Given the description of an element on the screen output the (x, y) to click on. 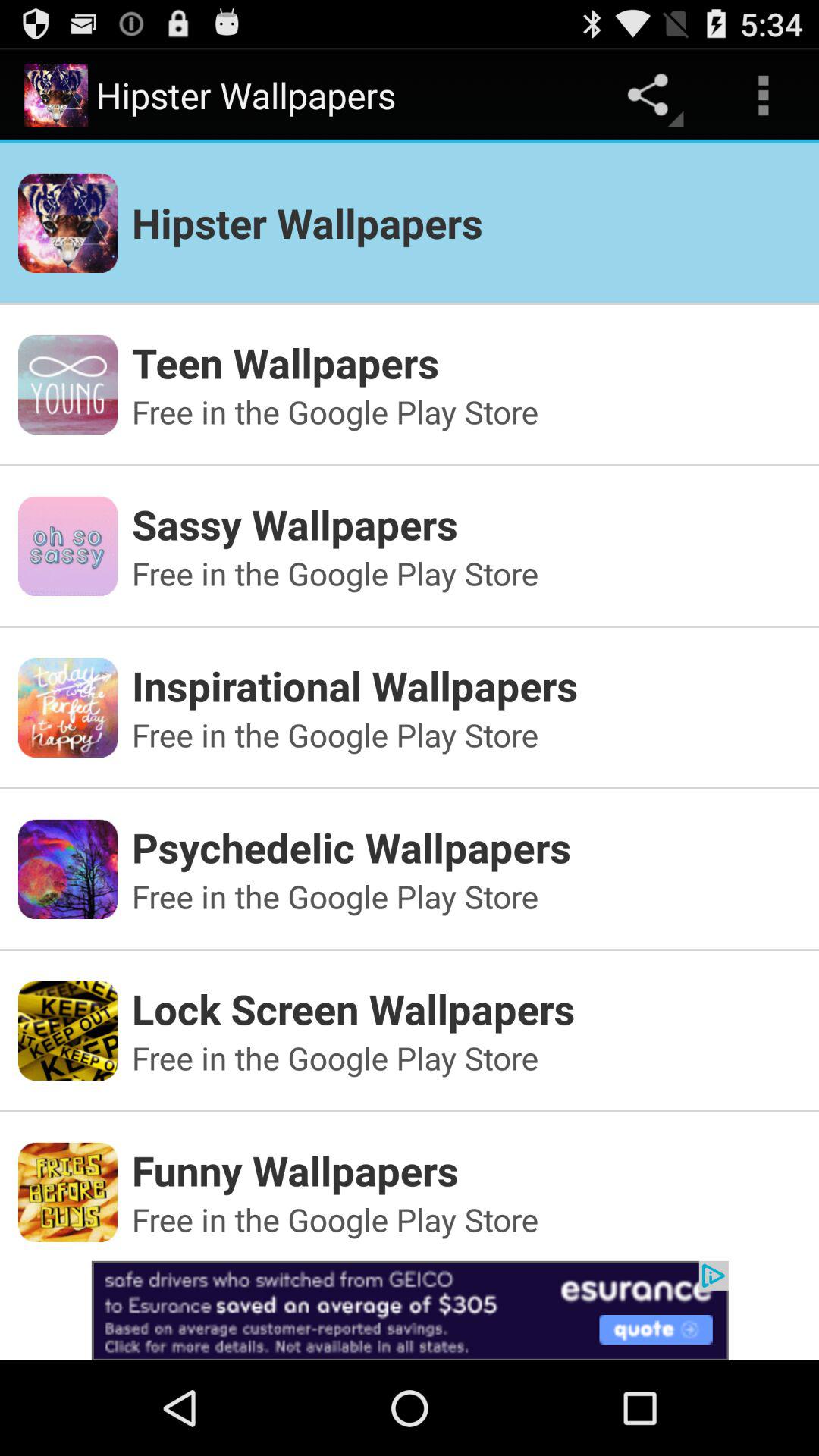
advertisement page (409, 1310)
